Given the description of an element on the screen output the (x, y) to click on. 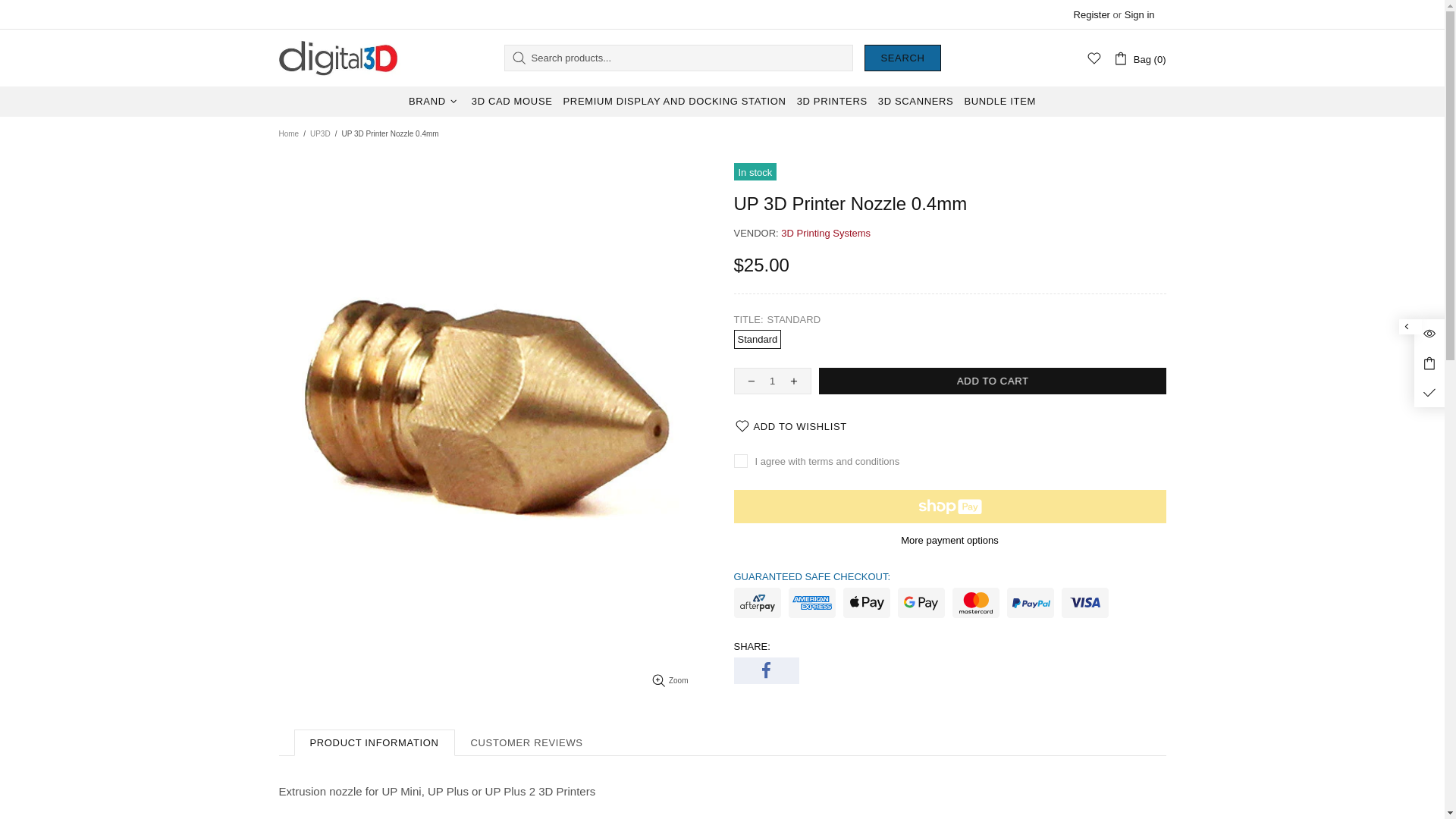
3D Printing Systems Element type: text (825, 232)
More payment options Element type: text (950, 539)
Sign in Element type: text (1139, 13)
Register Element type: text (1091, 13)
ADD TO CART Element type: text (992, 380)
PREMIUM DISPLAY AND DOCKING STATION Element type: text (674, 101)
UP3D Element type: text (319, 134)
ADD TO WISHLIST Element type: text (790, 426)
Digital3d.com.au Element type: text (339, 57)
3D PRINTERS Element type: text (831, 101)
3D CAD MOUSE Element type: text (512, 101)
Bag (0) Element type: text (1139, 57)
BUNDLE ITEM Element type: text (999, 101)
BRAND Element type: text (434, 101)
Home Element type: text (288, 134)
SEARCH Element type: text (902, 57)
3D SCANNERS Element type: text (915, 101)
